Given the description of an element on the screen output the (x, y) to click on. 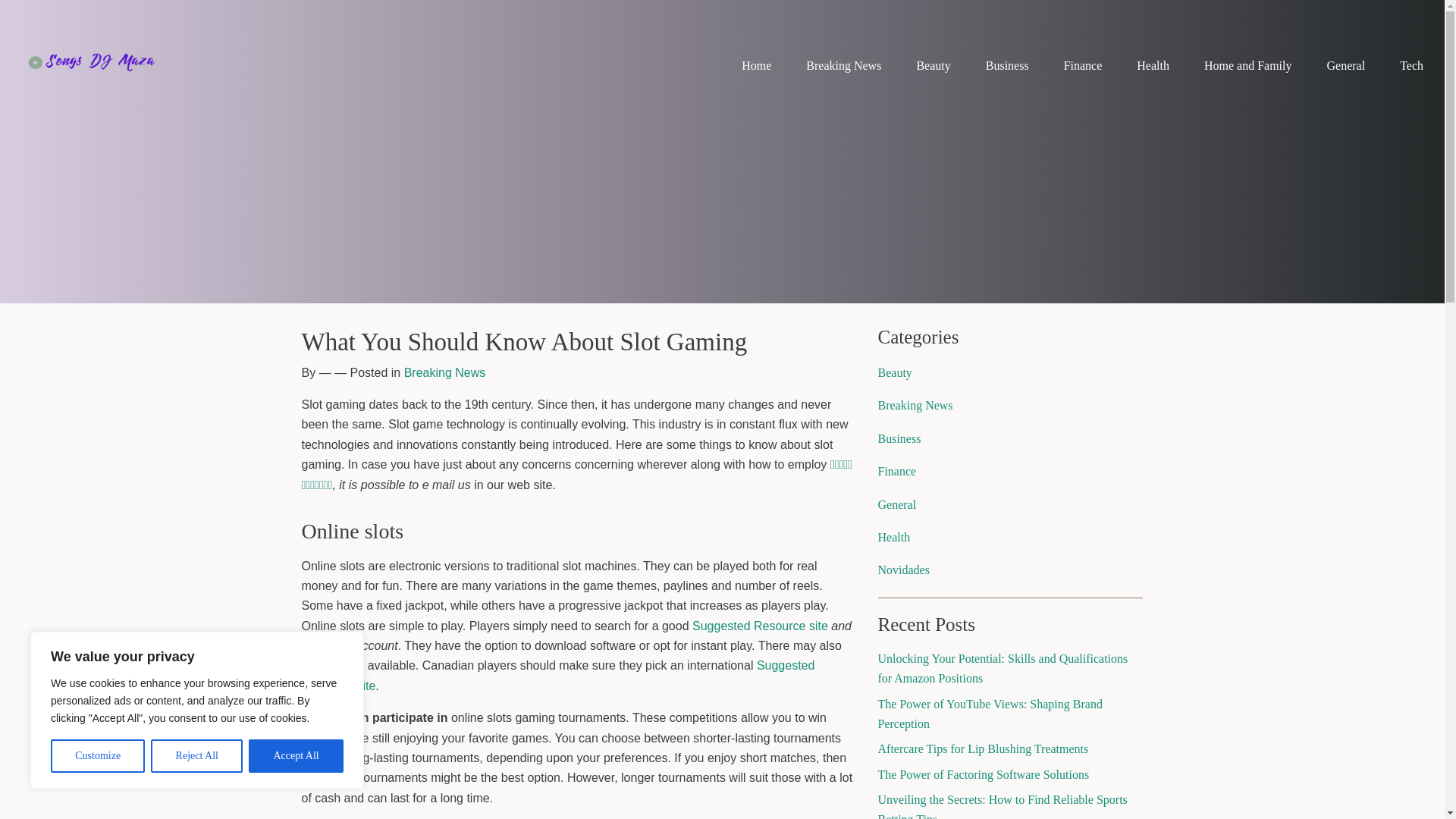
Beauty (933, 65)
Home (756, 65)
Suggested Resource site (558, 675)
Customize (97, 756)
Reject All (197, 756)
Home and Family (1248, 65)
Breaking News (445, 372)
General (1345, 65)
Health (1152, 65)
Suggested Resource site (760, 625)
Finance (1083, 65)
Business (1007, 65)
Tech (1411, 65)
Breaking News (842, 65)
Accept All (295, 756)
